Given the description of an element on the screen output the (x, y) to click on. 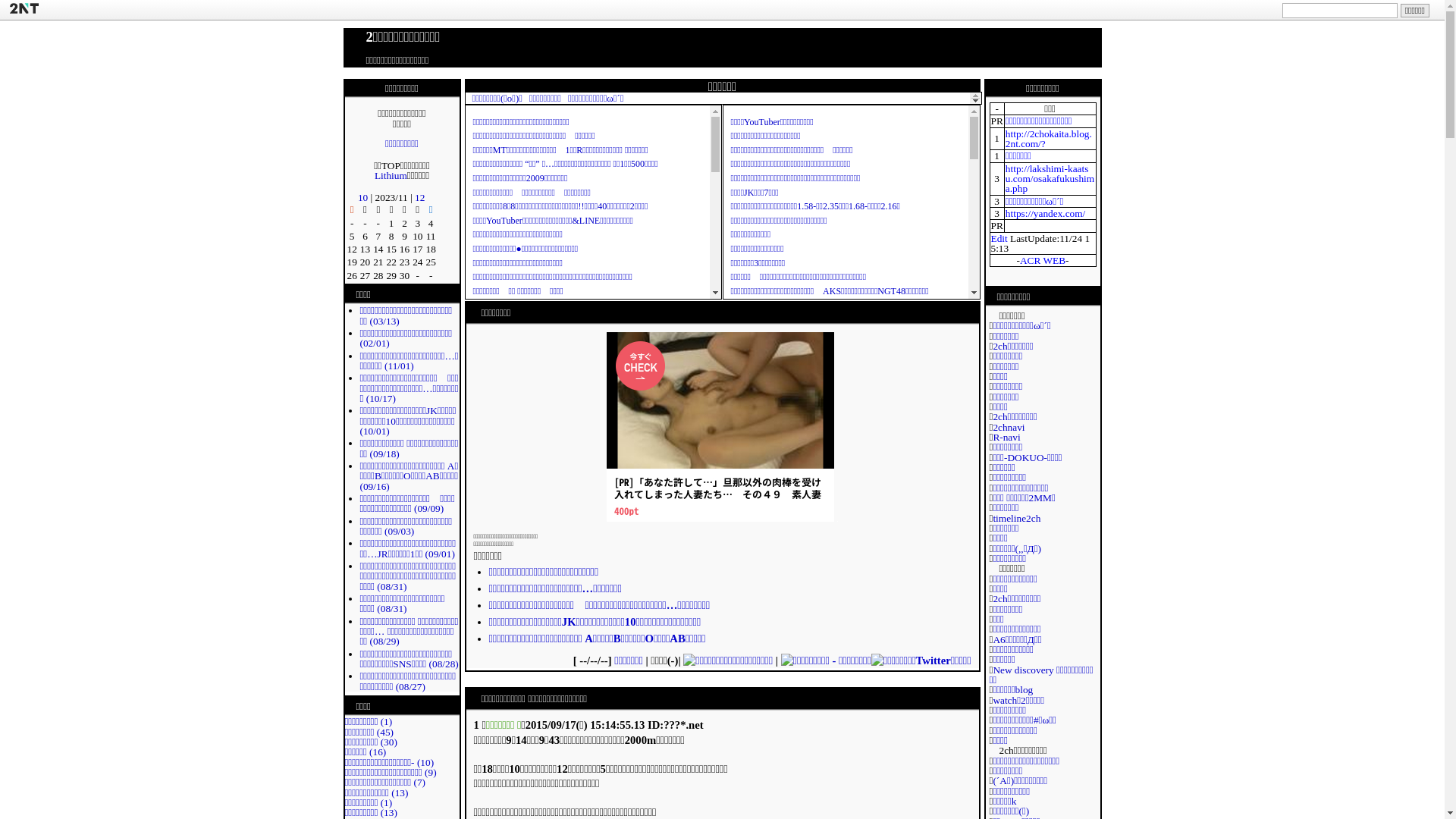
2chnavi Element type: text (1008, 427)
http://lakshimi-kaatsu.com/osakafukushima.php Element type: text (1049, 178)
Edit Element type: text (998, 237)
https://yandex.com/ Element type: text (1045, 213)
http://2chokaita.blog.2nt.com/? Element type: text (1048, 138)
R-navi Element type: text (1005, 436)
10 Element type: text (362, 197)
Lithium Element type: text (390, 175)
timeline2ch Element type: text (1016, 518)
ACR WEB Element type: text (1042, 260)
12 Element type: text (419, 197)
